Given the description of an element on the screen output the (x, y) to click on. 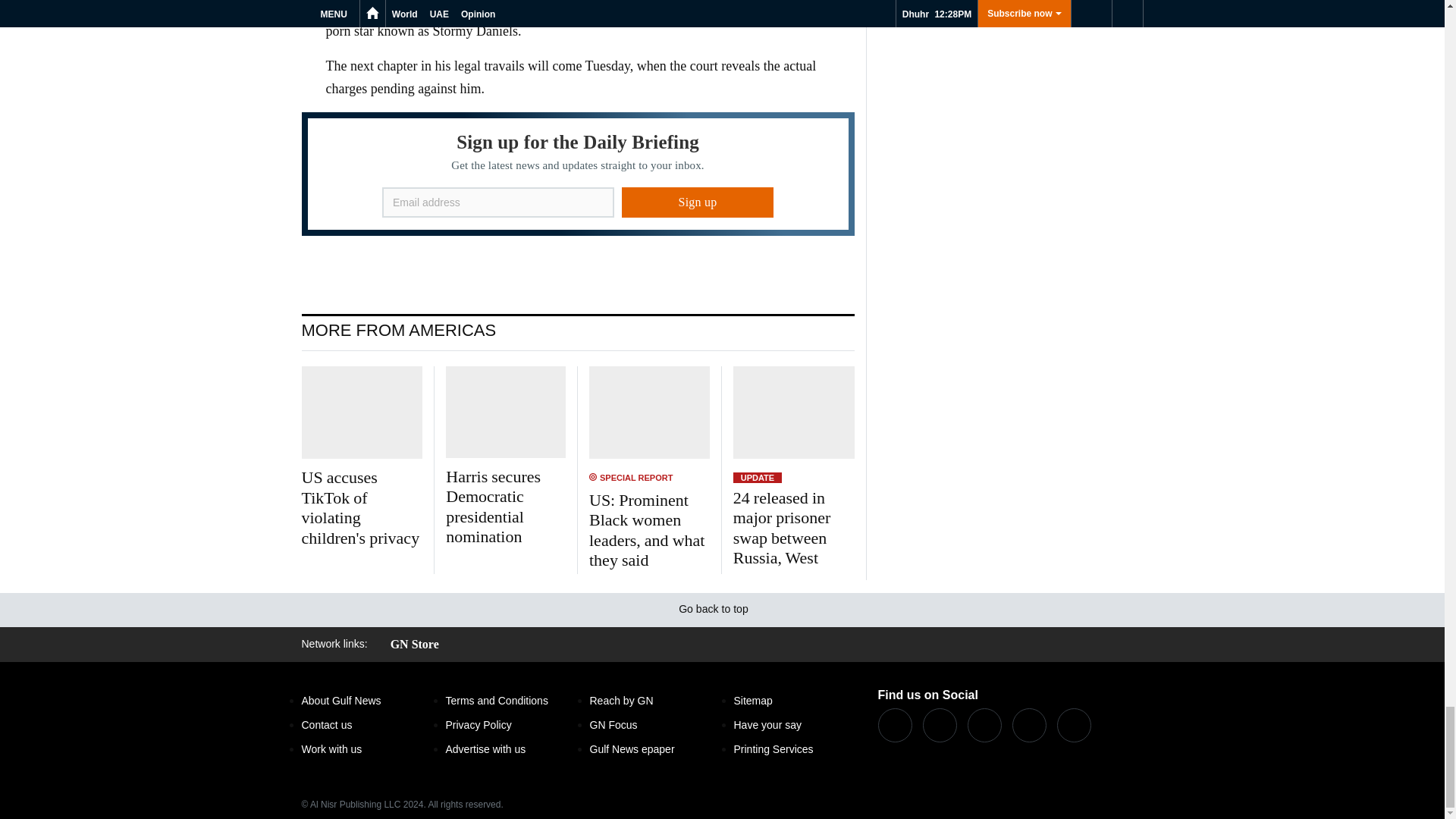
Sign up for the Daily Briefing (577, 173)
